Given the description of an element on the screen output the (x, y) to click on. 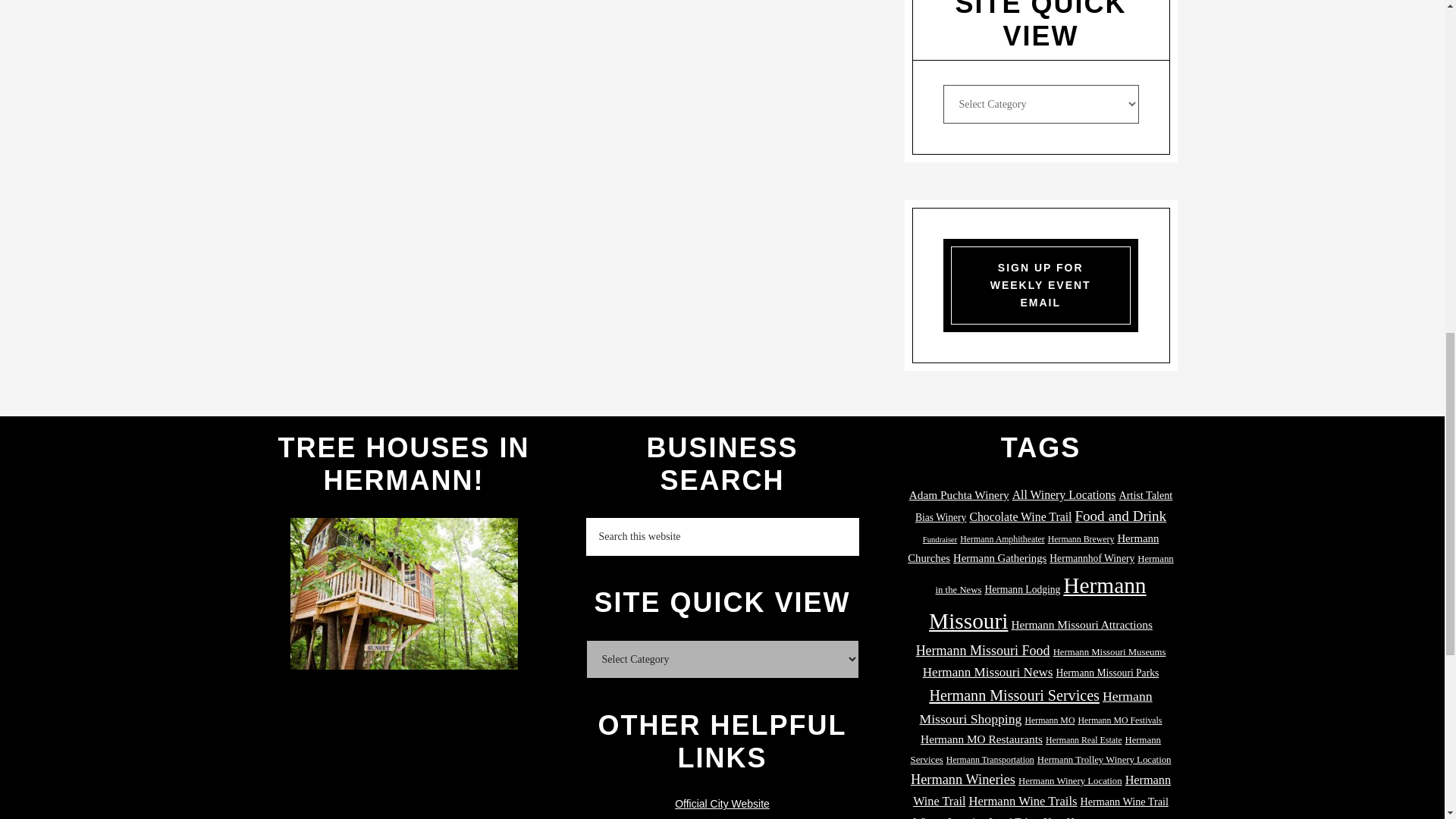
SIGN UP FOR WEEKLY EVENT EMAIL (1040, 284)
